Given the description of an element on the screen output the (x, y) to click on. 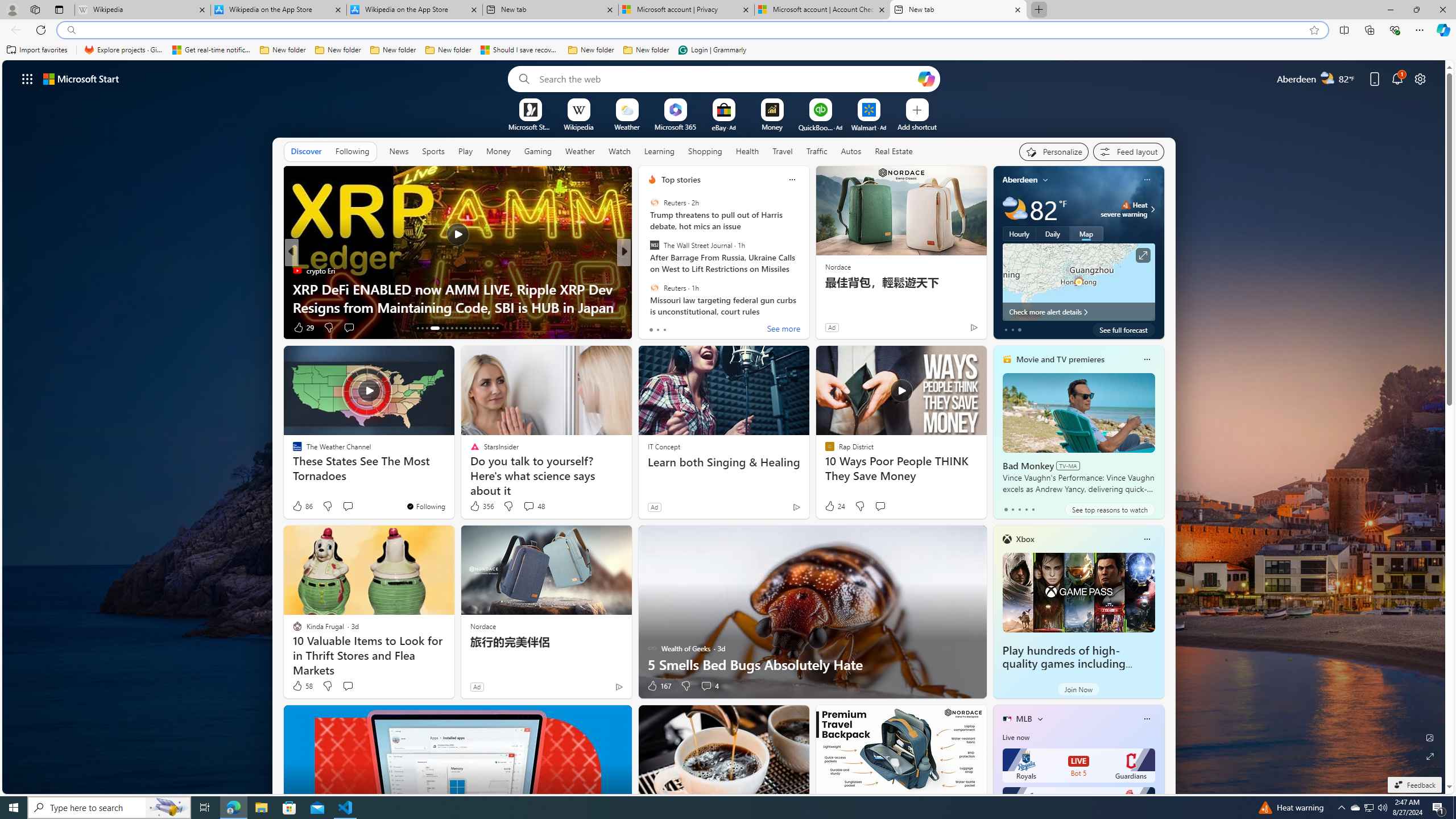
Xbox (1025, 538)
The Wall Street Journal (654, 245)
View comments 48 Comment (533, 505)
Learning (658, 151)
Brutal heat dome in Midwest sends temps into the upper 90s (457, 298)
How to Replace File Explorer As the Default on Windows (807, 298)
Class: icon-img (1146, 718)
TODAY (296, 270)
